Given the description of an element on the screen output the (x, y) to click on. 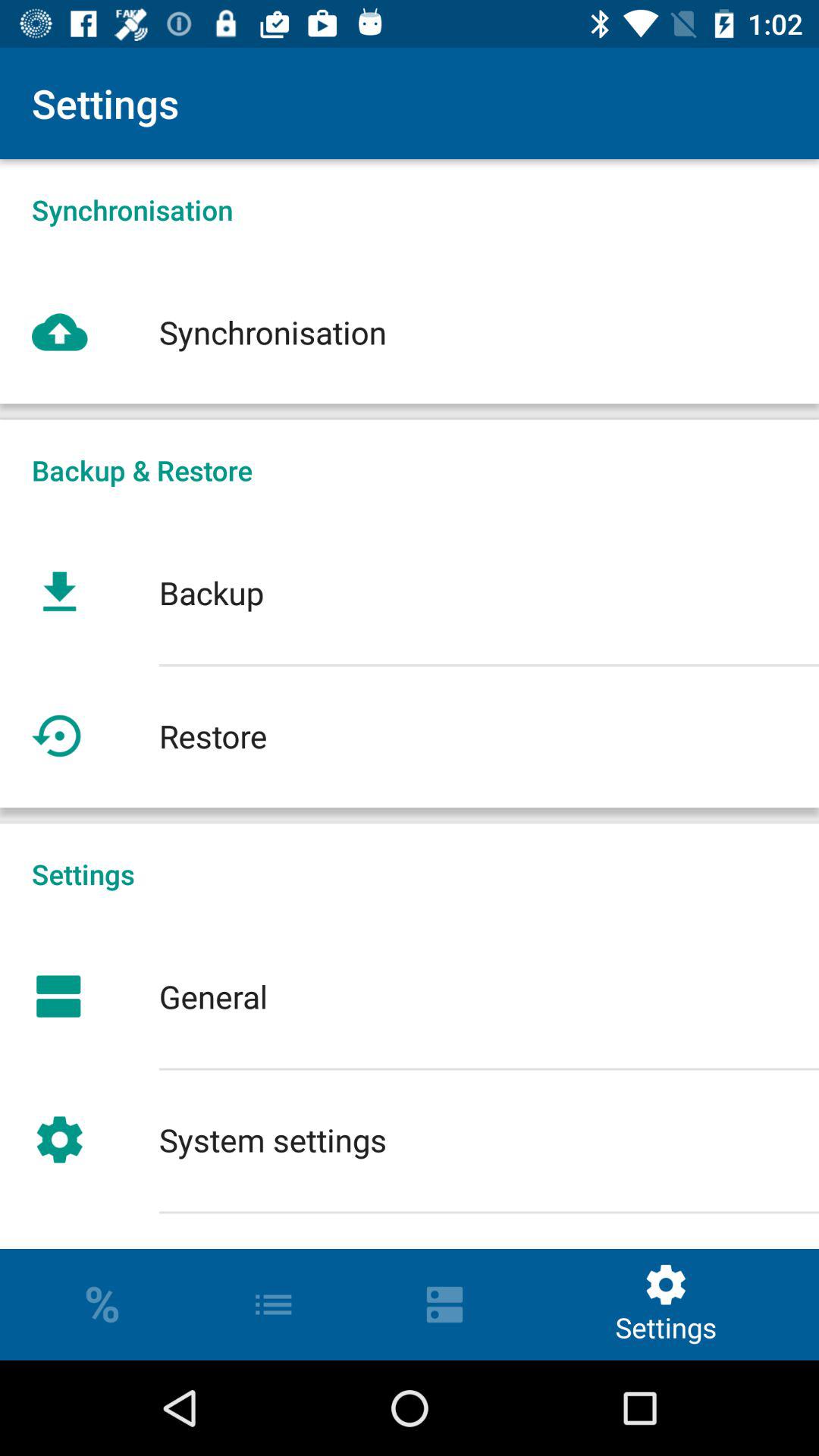
tap the item below the general item (409, 1139)
